Given the description of an element on the screen output the (x, y) to click on. 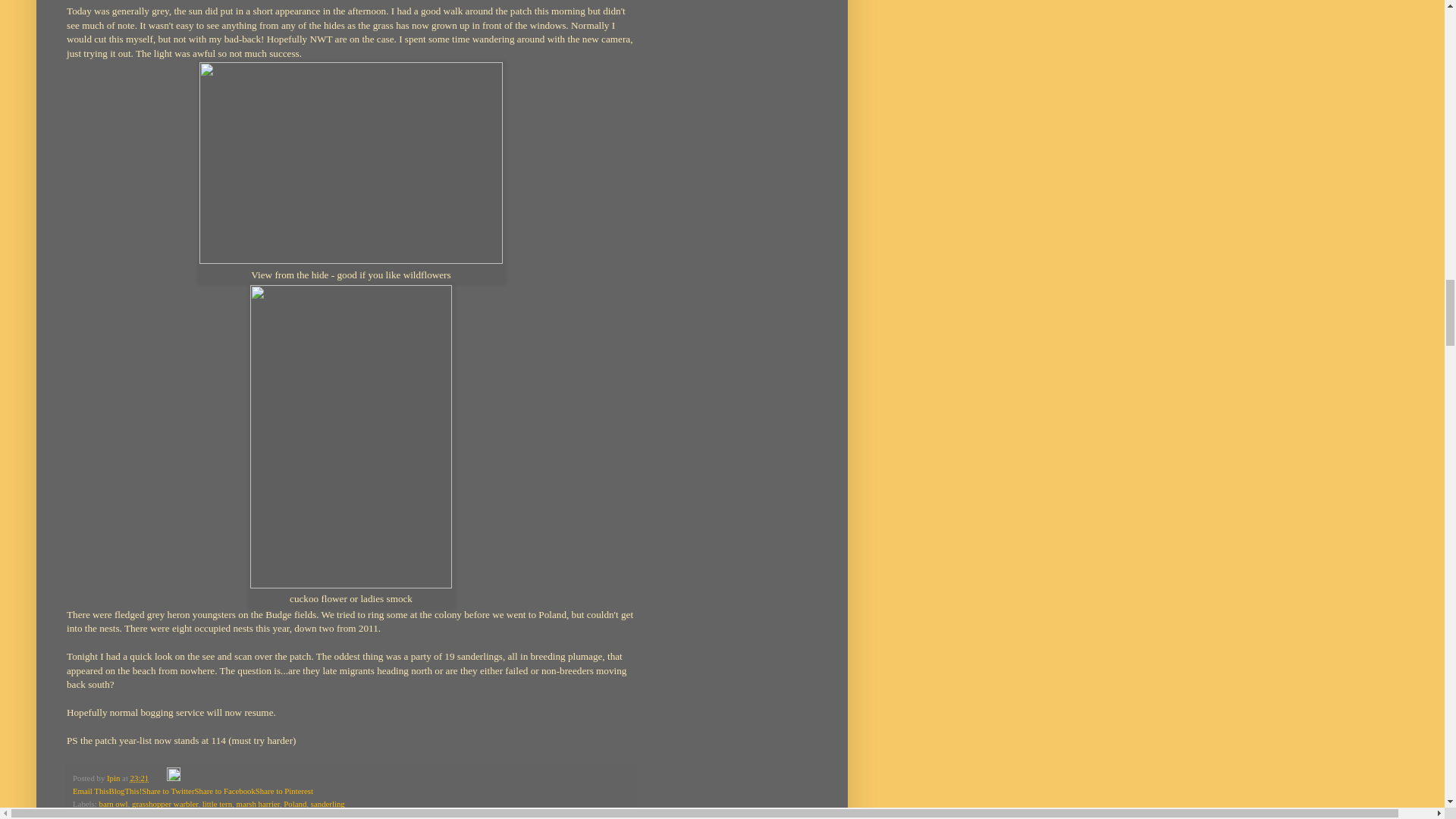
BlogThis! (124, 790)
Share to Pinterest (284, 790)
Edit Post (173, 777)
barn owl (113, 803)
Share to Facebook (223, 790)
sanderling (328, 803)
author profile (114, 777)
permanent link (140, 777)
Share to Facebook (223, 790)
23:21 (140, 777)
Share to Twitter (167, 790)
Email Post (159, 777)
BlogThis! (124, 790)
Email This (89, 790)
little tern (216, 803)
